Given the description of an element on the screen output the (x, y) to click on. 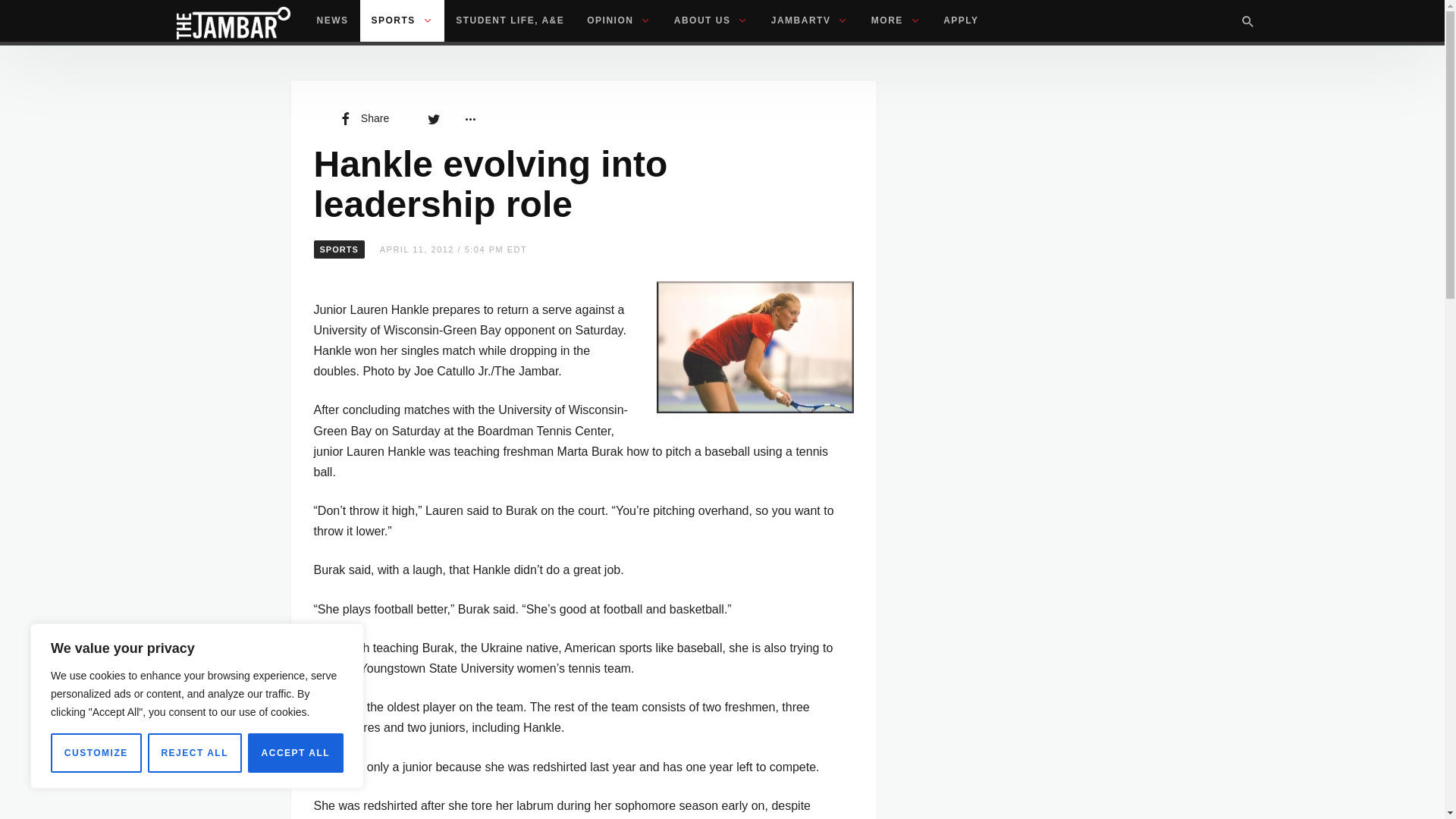
REJECT ALL (194, 753)
ABOUT US (711, 20)
CUSTOMIZE (95, 753)
Share on Twitter (433, 118)
NEWS (331, 20)
JAMBARTV (810, 20)
ACCEPT ALL (295, 753)
View all posts in Sports (339, 249)
More (469, 118)
SPORTS (401, 20)
OPINION (618, 20)
MORE (895, 20)
Share on Facebook (363, 118)
